Given the description of an element on the screen output the (x, y) to click on. 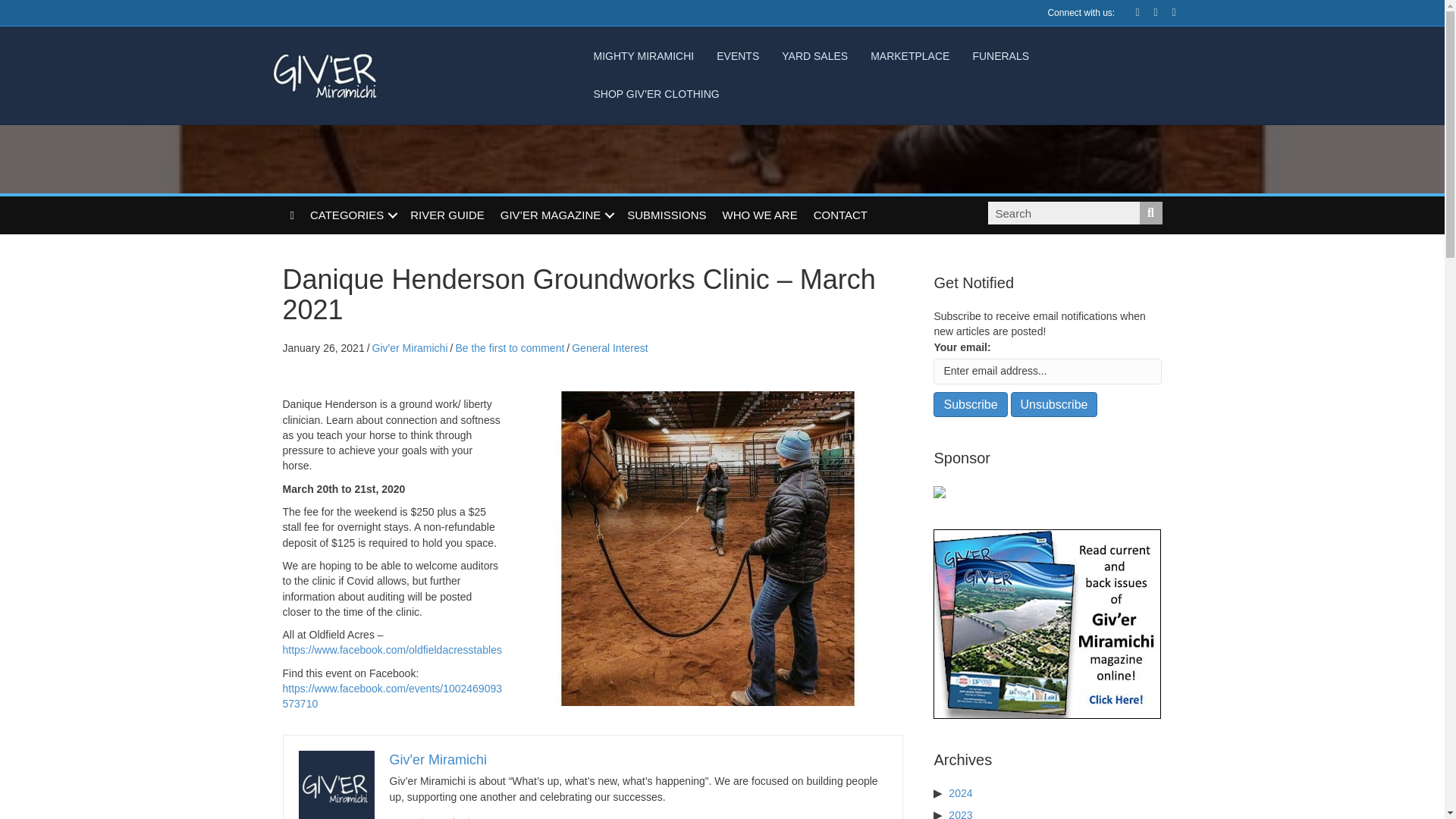
Subscribe (970, 404)
Unsubscribe (1053, 404)
Search (1062, 212)
EVENTS (737, 56)
MARKETPLACE (909, 56)
WHO WE ARE (759, 215)
Enter email address... (1047, 371)
Twitter (1147, 11)
Facebook (1129, 11)
YARD SALES (814, 56)
SUBMISSIONS (666, 215)
Instagram (1165, 11)
RIVER GUIDE (447, 215)
FUNERALS (1000, 56)
MIGHTY MIRAMICHI (642, 56)
